Given the description of an element on the screen output the (x, y) to click on. 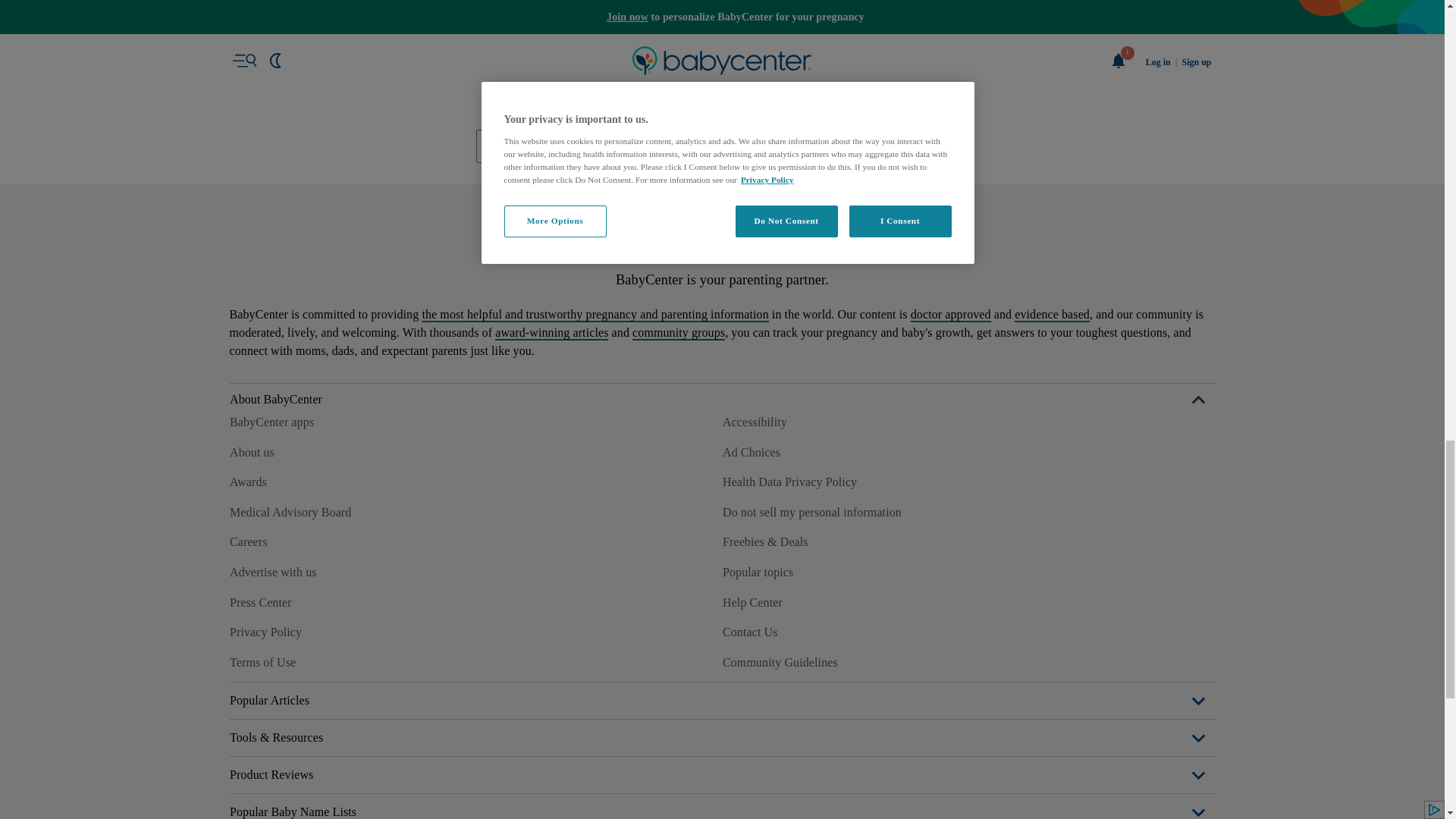
BabyCenter YouTube channel (344, 660)
BabyCenter Instagram feed (274, 660)
BabyCenter Pinterest board (309, 660)
BabyCenter Twitter feed (379, 660)
BabyCenter Facebook page (239, 660)
